Given the description of an element on the screen output the (x, y) to click on. 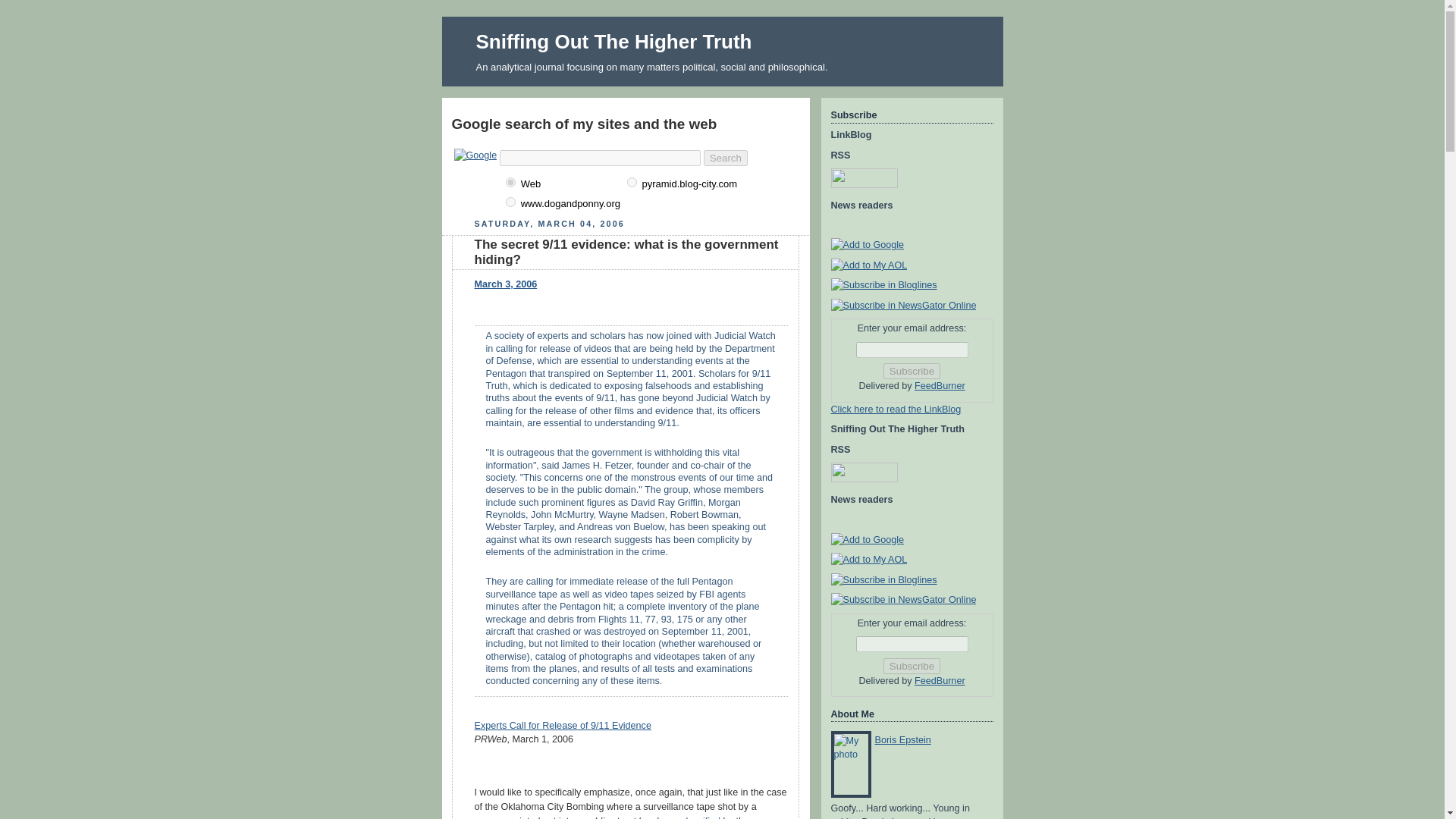
Search the Web (531, 184)
pyramid.blog-city.com (632, 182)
Search www.dogandponny.org (570, 204)
Search (725, 157)
Search (725, 157)
Subscribe (911, 666)
March 3, 2006 (505, 284)
classified (700, 817)
Subscribe (911, 371)
Click here to read the LinkBlog (895, 409)
Subscribe (911, 371)
Search pyramid.blog-city.com (689, 184)
Sniffing Out The Higher Truth (614, 41)
FeedBurner (939, 385)
www.dogandponny.org (510, 202)
